Given the description of an element on the screen output the (x, y) to click on. 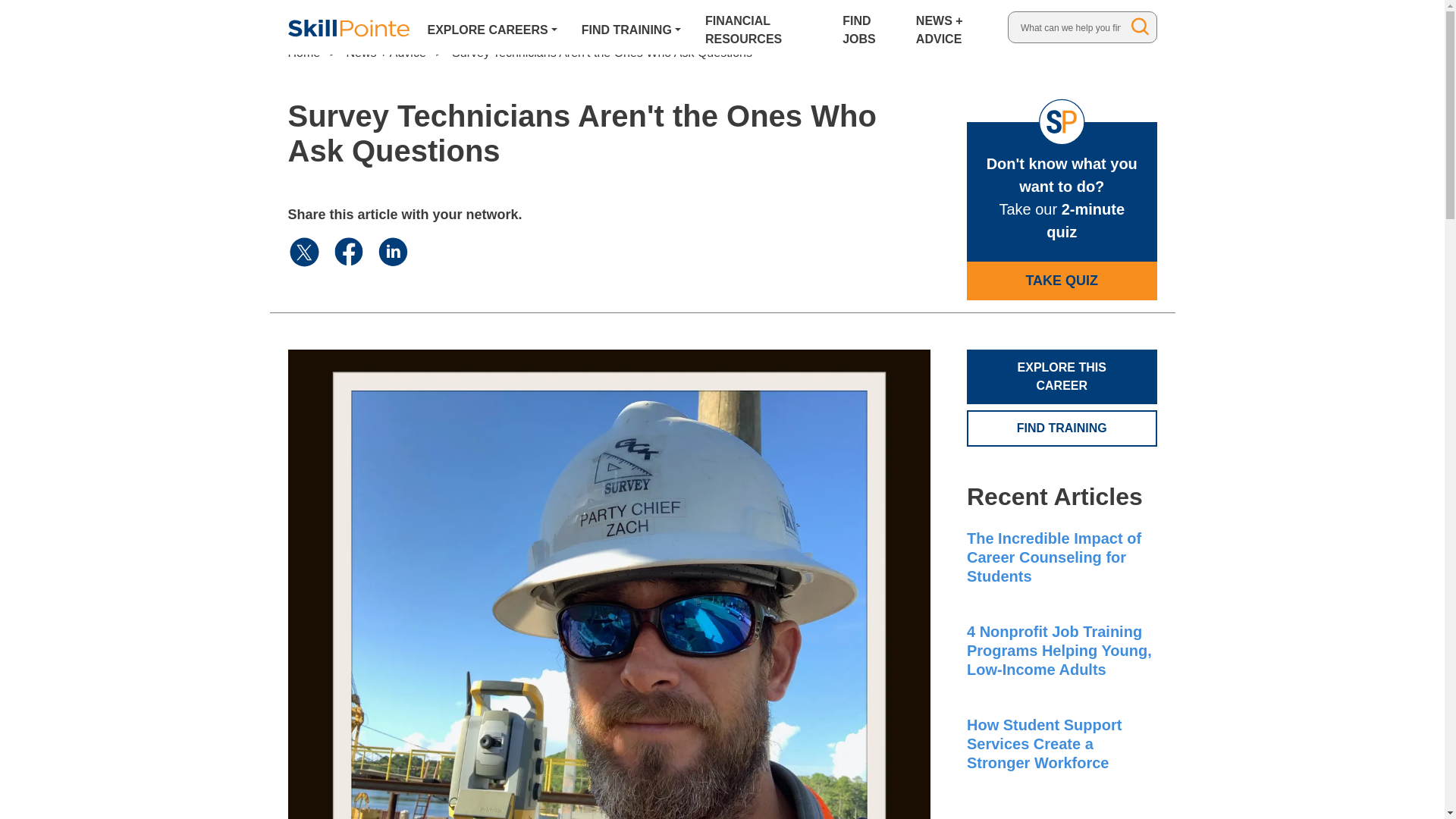
FIND TRAINING (631, 27)
SkillPointe (348, 27)
Survey Technicians Aren't the Ones Who Ask Questions (601, 51)
EXPLORE CAREERS (492, 27)
Home (304, 51)
FINANCIAL RESOURCES (761, 26)
FIND JOBS (866, 26)
Search (1140, 26)
SkillPointe homepage (348, 27)
